Given the description of an element on the screen output the (x, y) to click on. 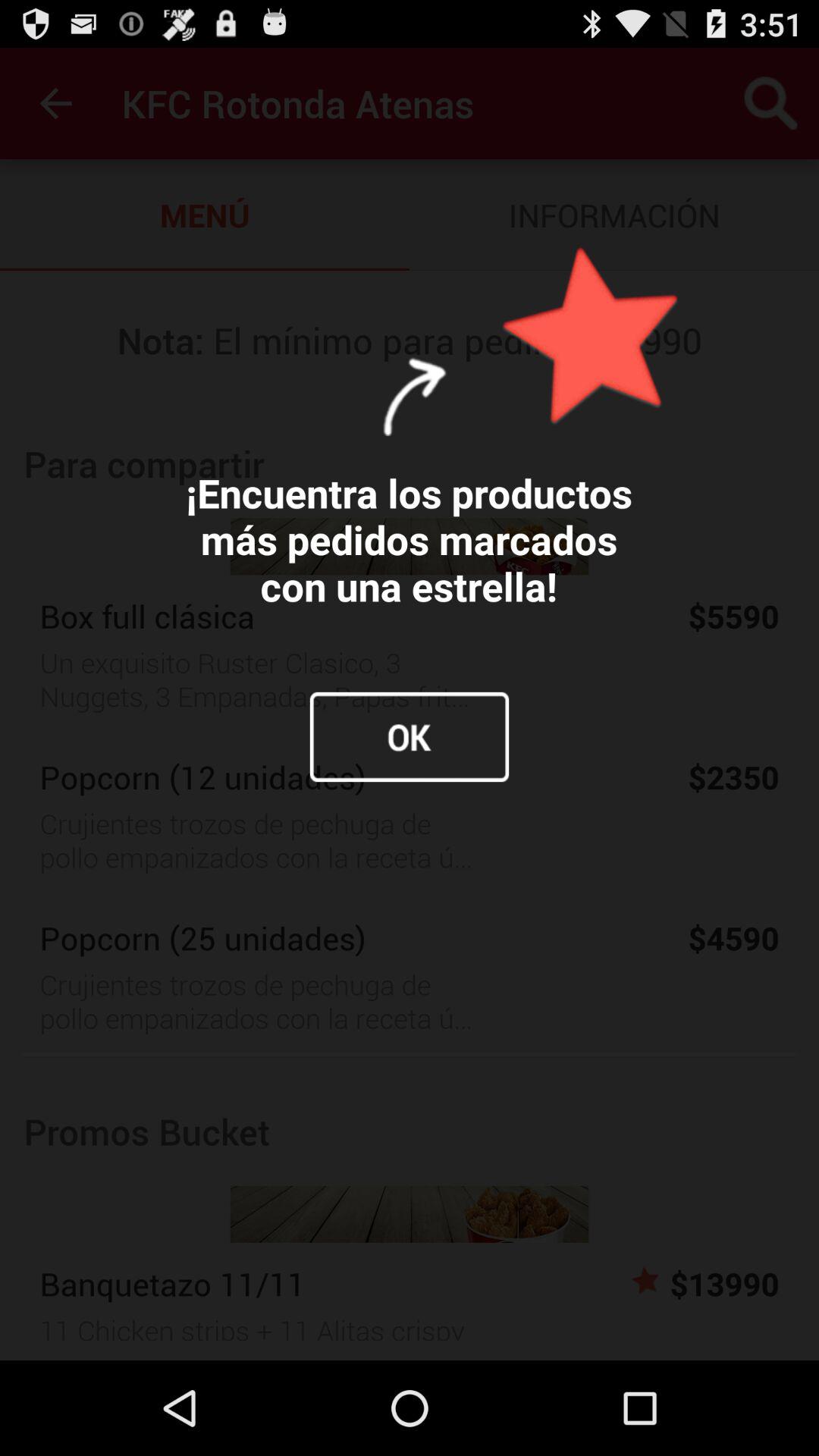
open the item below the encuentra los productos icon (409, 737)
